Given the description of an element on the screen output the (x, y) to click on. 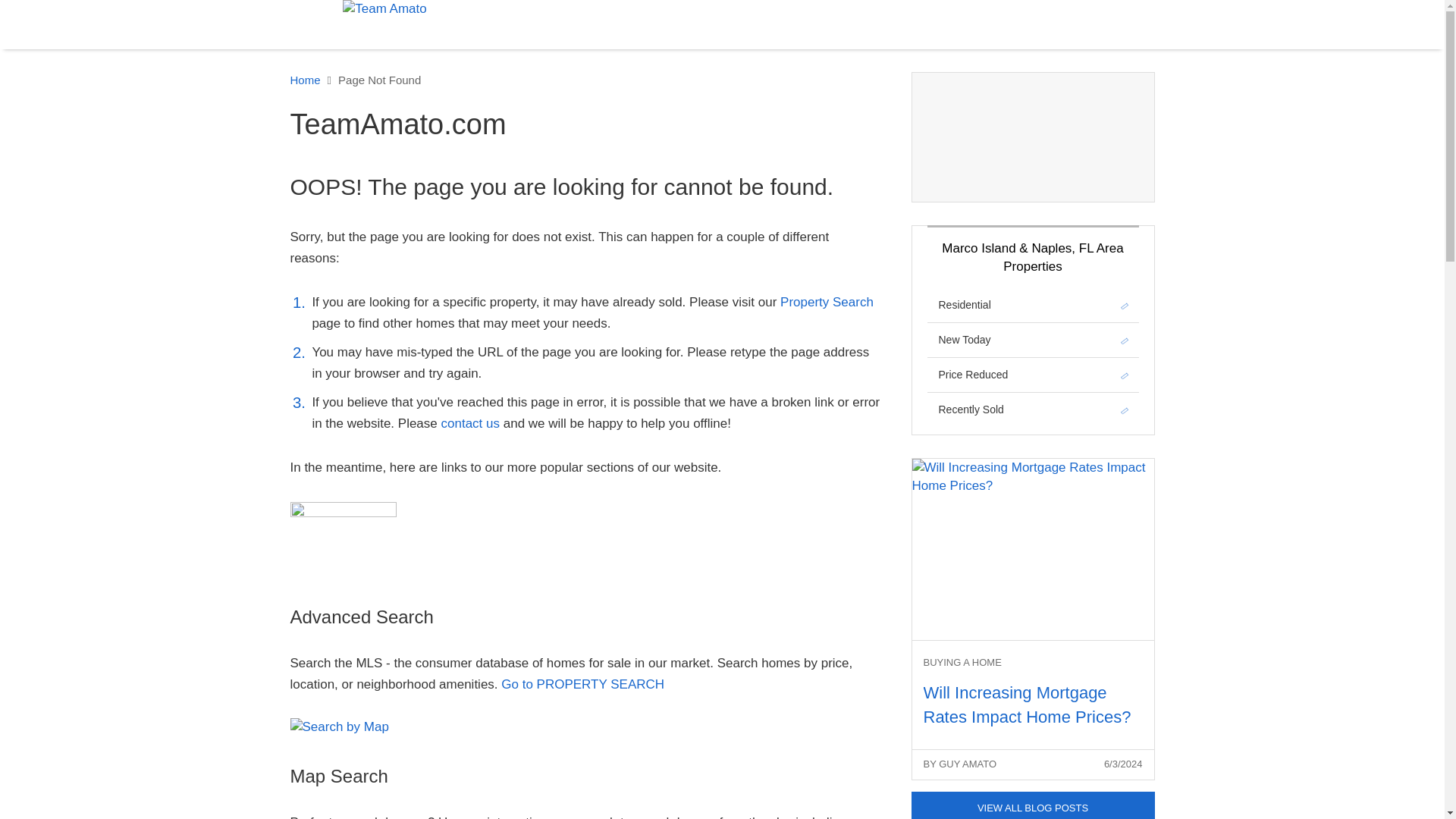
Search the MLS (826, 301)
Search the MLS (581, 684)
Search the MLS (342, 538)
Search the MLS by Map (338, 726)
Contact Us (472, 423)
Search by map (338, 727)
